Given the description of an element on the screen output the (x, y) to click on. 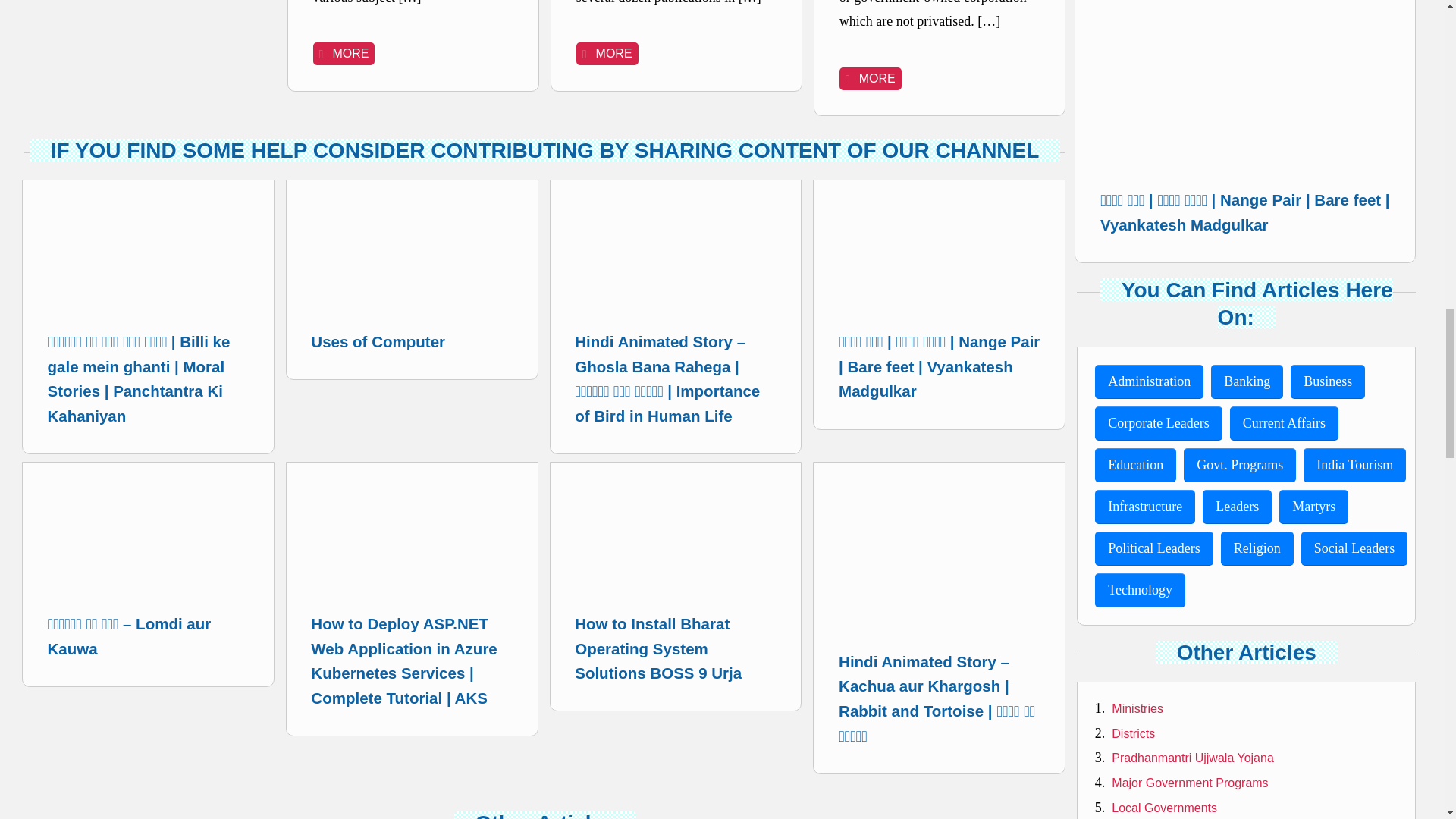
Uses of Computer (411, 273)
MORE (344, 53)
MORE (607, 53)
